Given the description of an element on the screen output the (x, y) to click on. 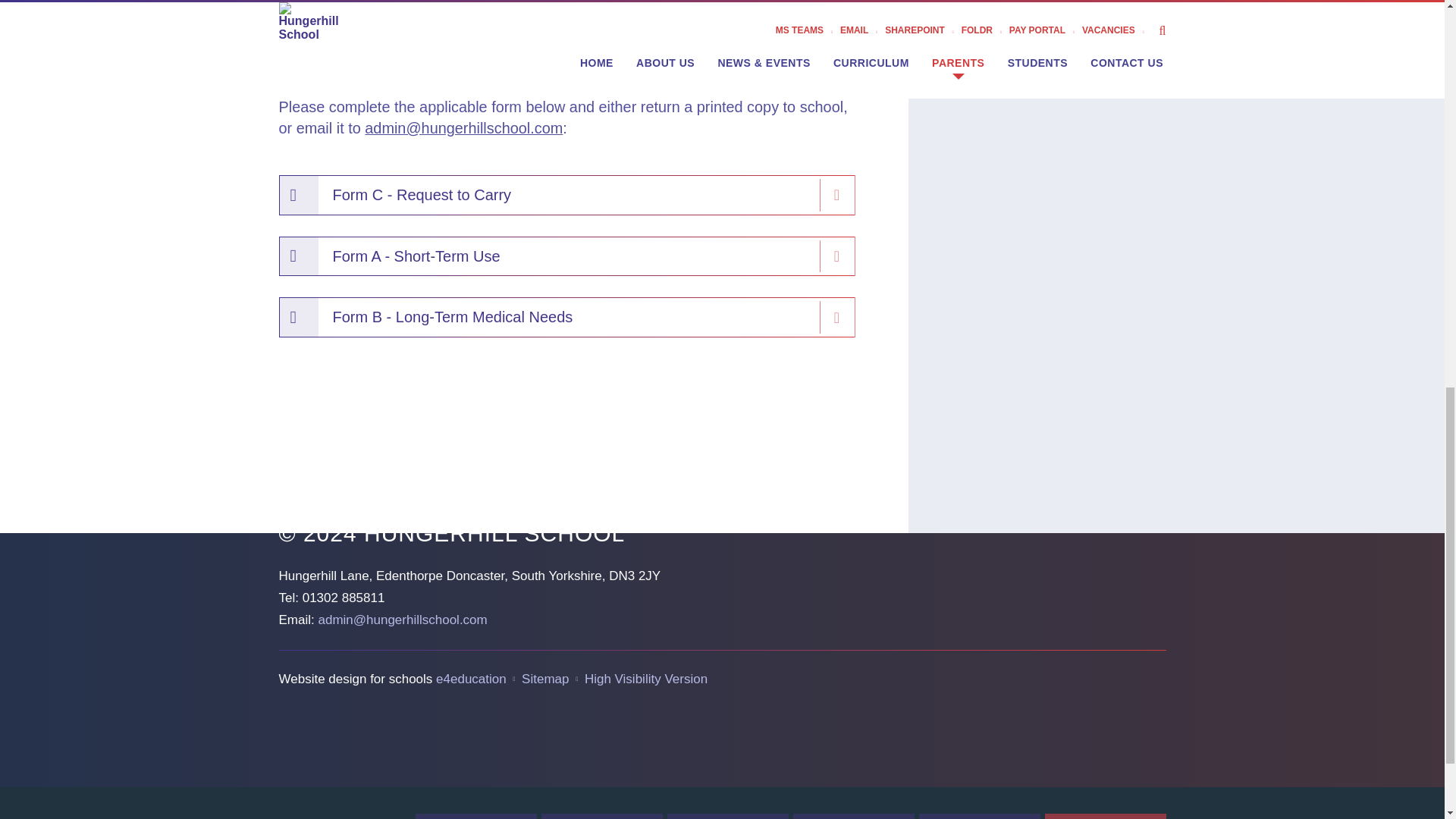
Stonewall School Champion (727, 816)
WCSQM (601, 816)
MHA (853, 816)
Anti -Bullying (979, 816)
Ofsted (475, 816)
